Given the description of an element on the screen output the (x, y) to click on. 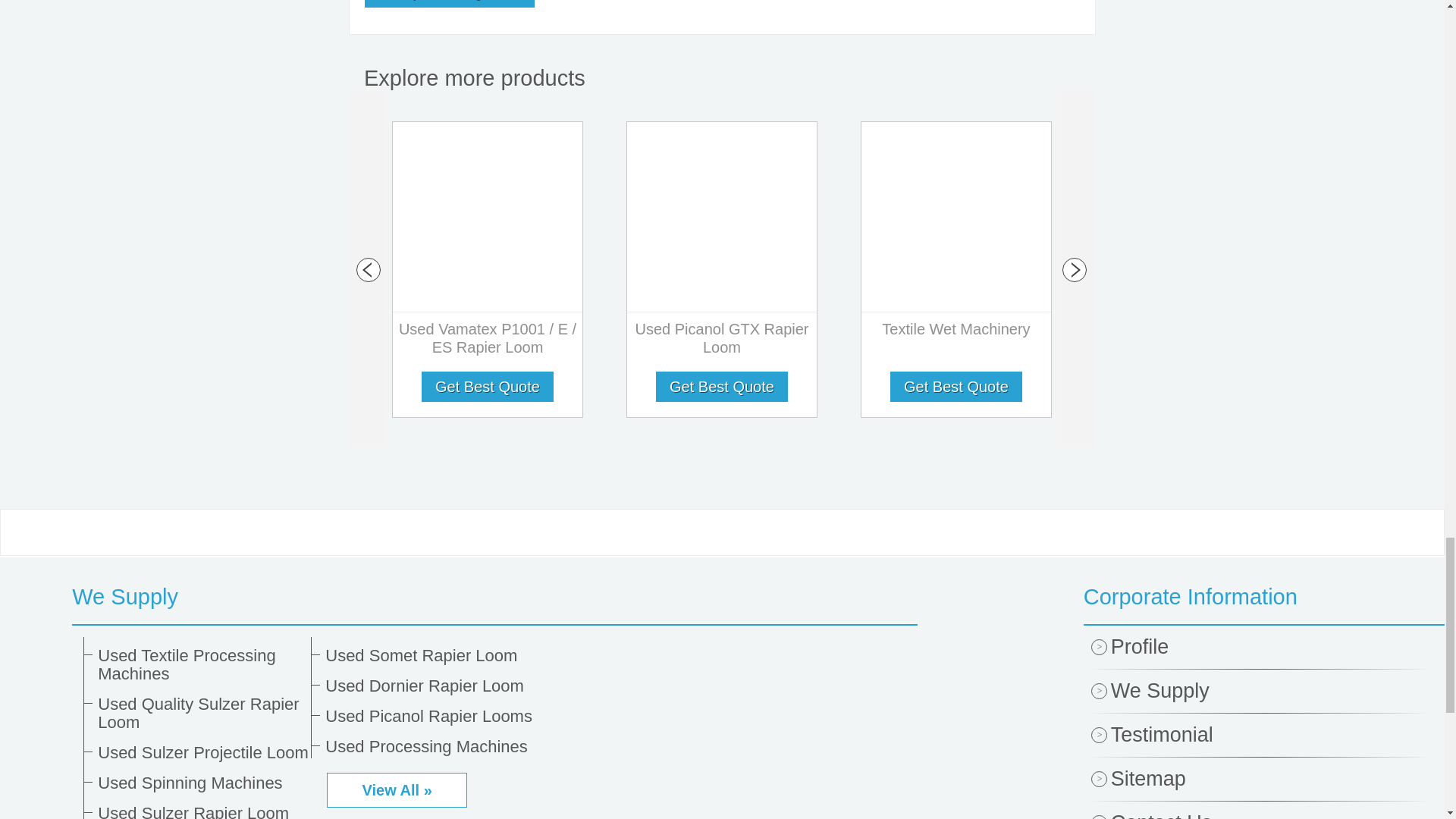
Used Picanol Rapier Looms (426, 716)
Used Dornier Rapier Loom (426, 686)
Used Somet Rapier Loom (426, 656)
Textile Wet Machinery (956, 332)
Used Textile Processing Machines (198, 665)
Used Sulzer Rapier Loom (198, 811)
Used Processing Machines (426, 746)
Used Sulzer Projectile Loom (198, 752)
Used Spinning Machines (198, 782)
Used Picanol GTX Rapier Loom (721, 341)
